Given the description of an element on the screen output the (x, y) to click on. 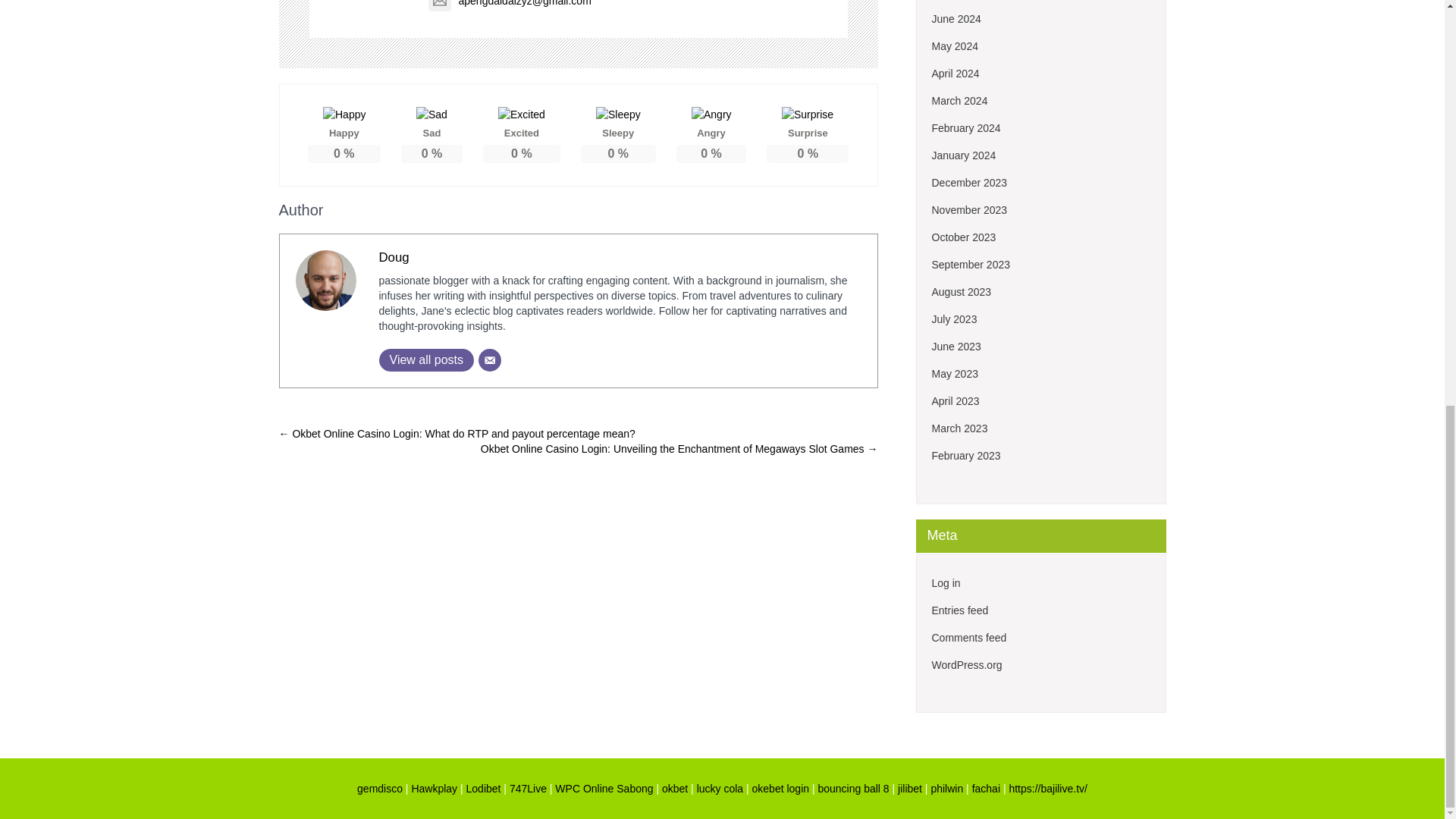
View all posts (426, 359)
Doug (393, 257)
View all posts (426, 359)
Doug (393, 257)
